Given the description of an element on the screen output the (x, y) to click on. 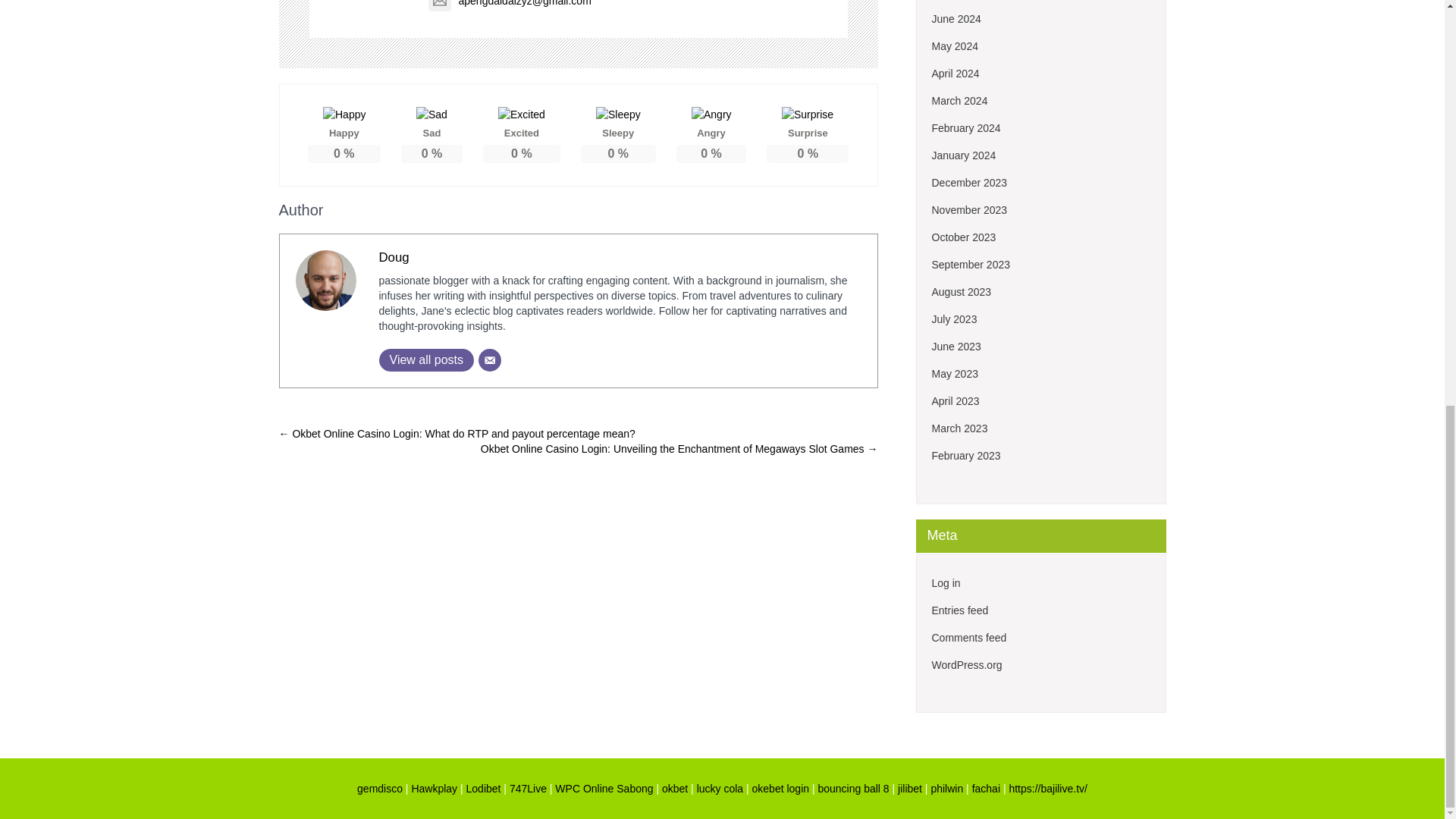
View all posts (426, 359)
Doug (393, 257)
View all posts (426, 359)
Doug (393, 257)
